Given the description of an element on the screen output the (x, y) to click on. 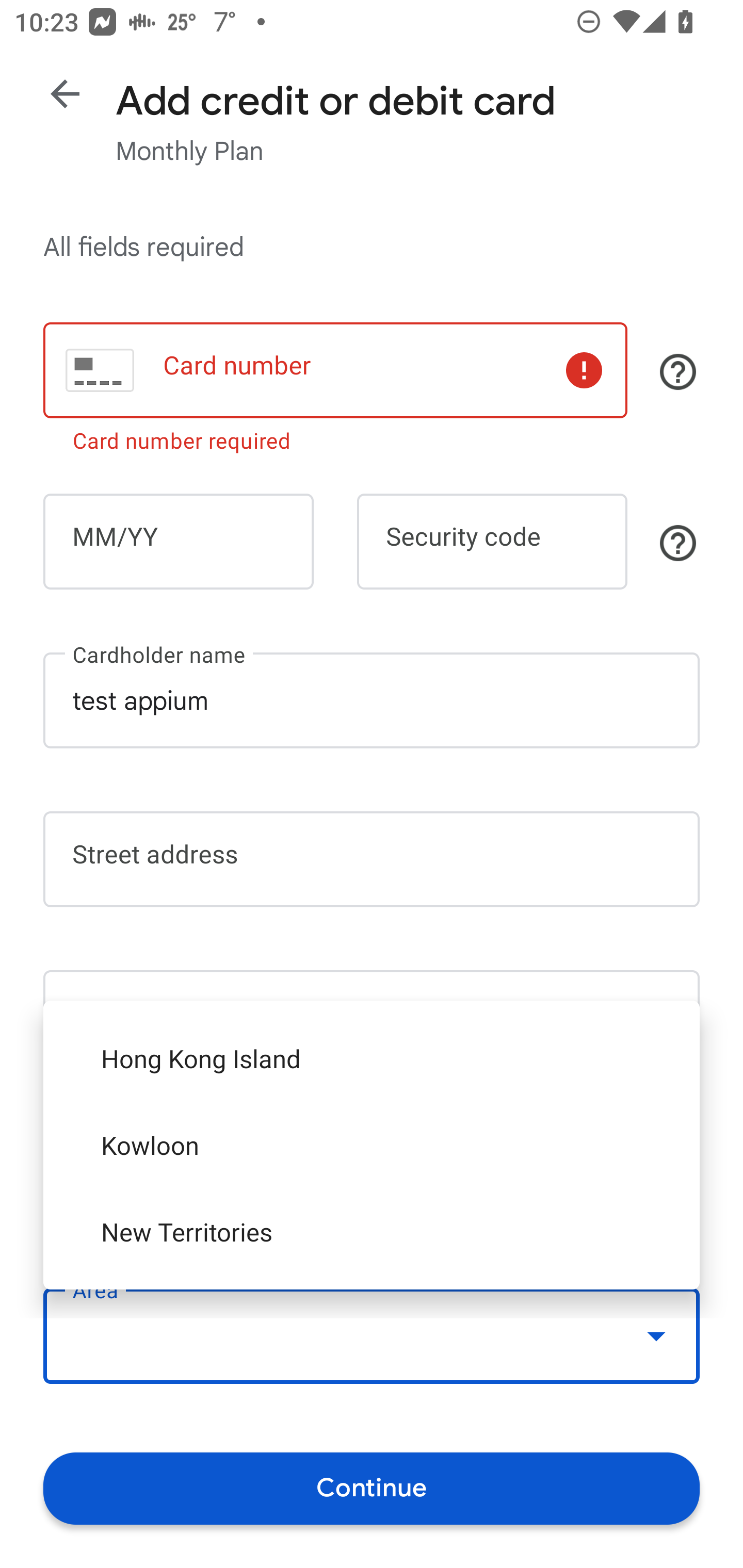
Back (64, 93)
Card number (335, 370)
Button, shows cards that are accepted for payment (677, 371)
Expiration date, 2 digit month, 2 digit year (178, 541)
Security code (492, 541)
Security code help (677, 543)
test appium (371, 699)
Street address (371, 858)
Area (371, 1335)
Show dropdown menu (655, 1335)
Continue (371, 1487)
